Given the description of an element on the screen output the (x, y) to click on. 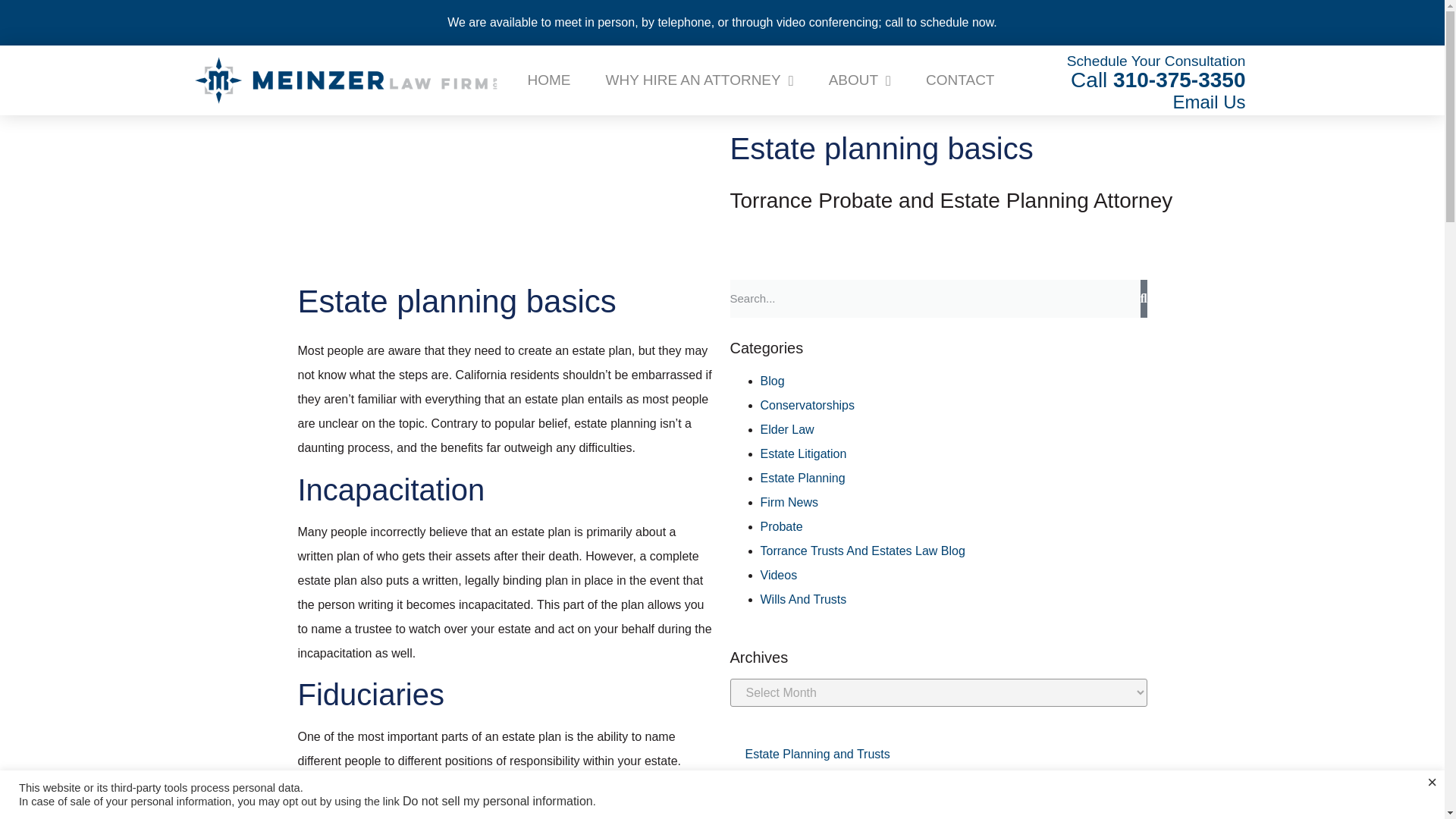
CONTACT (960, 80)
Conservatorships (807, 404)
HOME (548, 80)
Blog (772, 380)
WHY HIRE AN ATTORNEY (1156, 79)
ABOUT (698, 80)
